Given the description of an element on the screen output the (x, y) to click on. 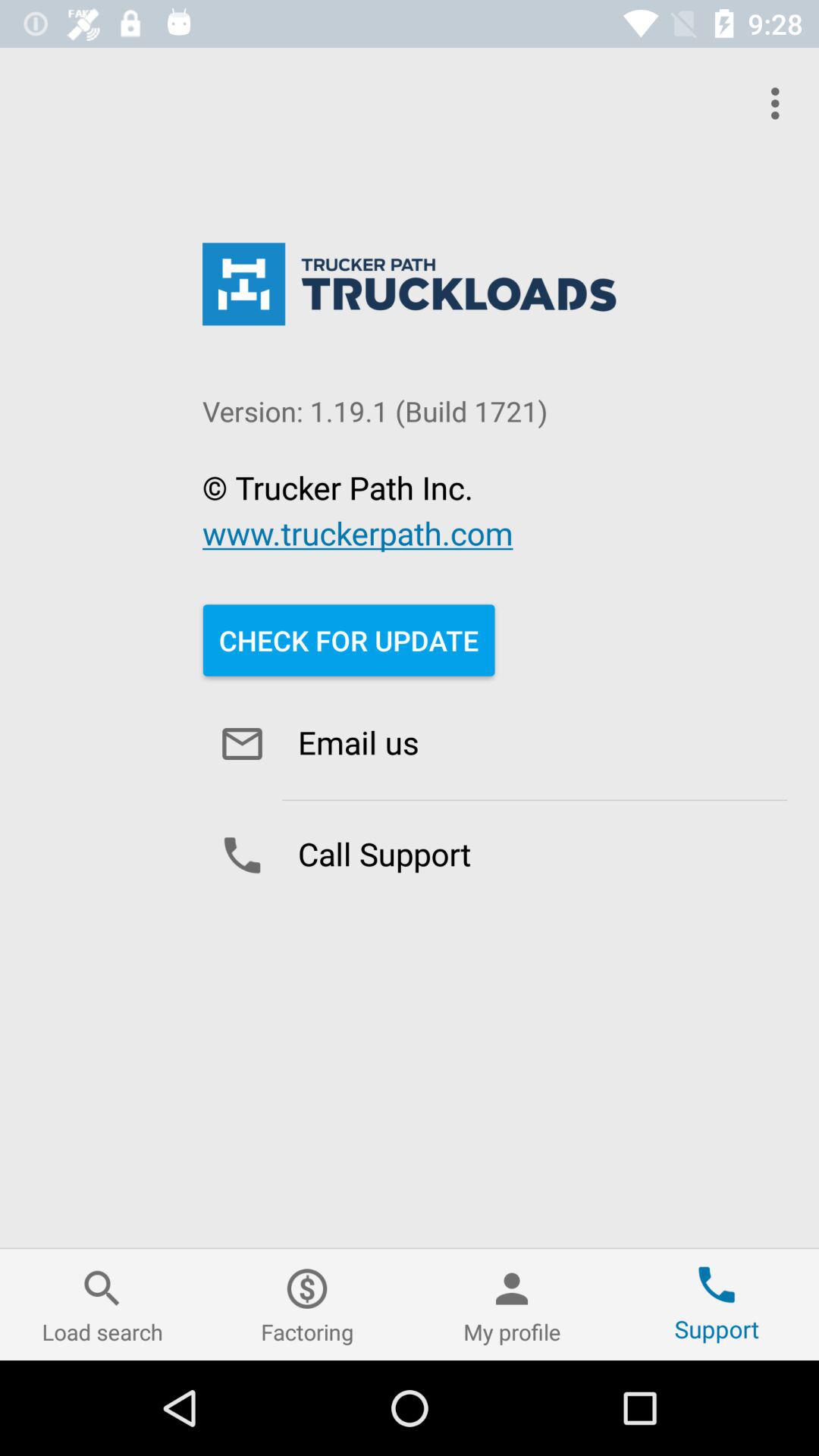
flip to the check for update icon (348, 640)
